Given the description of an element on the screen output the (x, y) to click on. 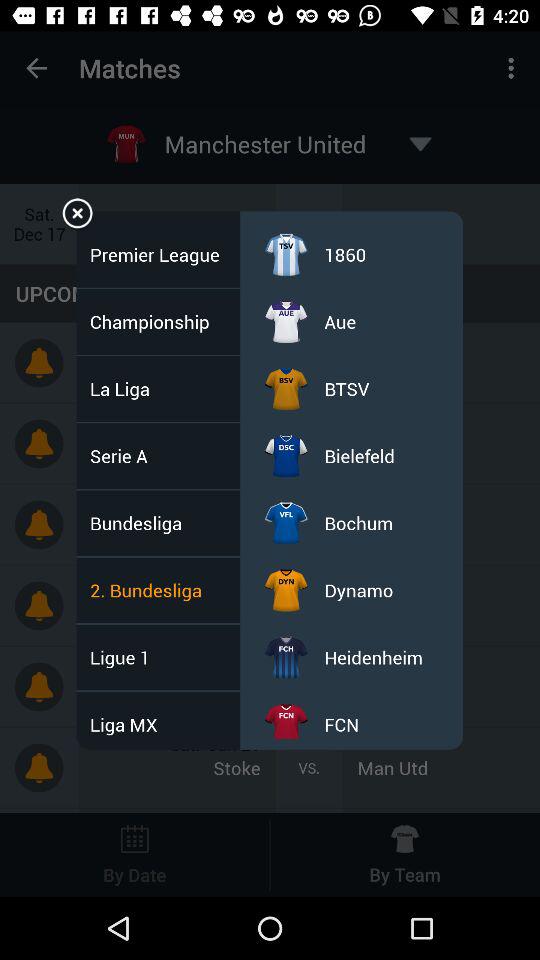
turn on the item above aue icon (345, 254)
